Given the description of an element on the screen output the (x, y) to click on. 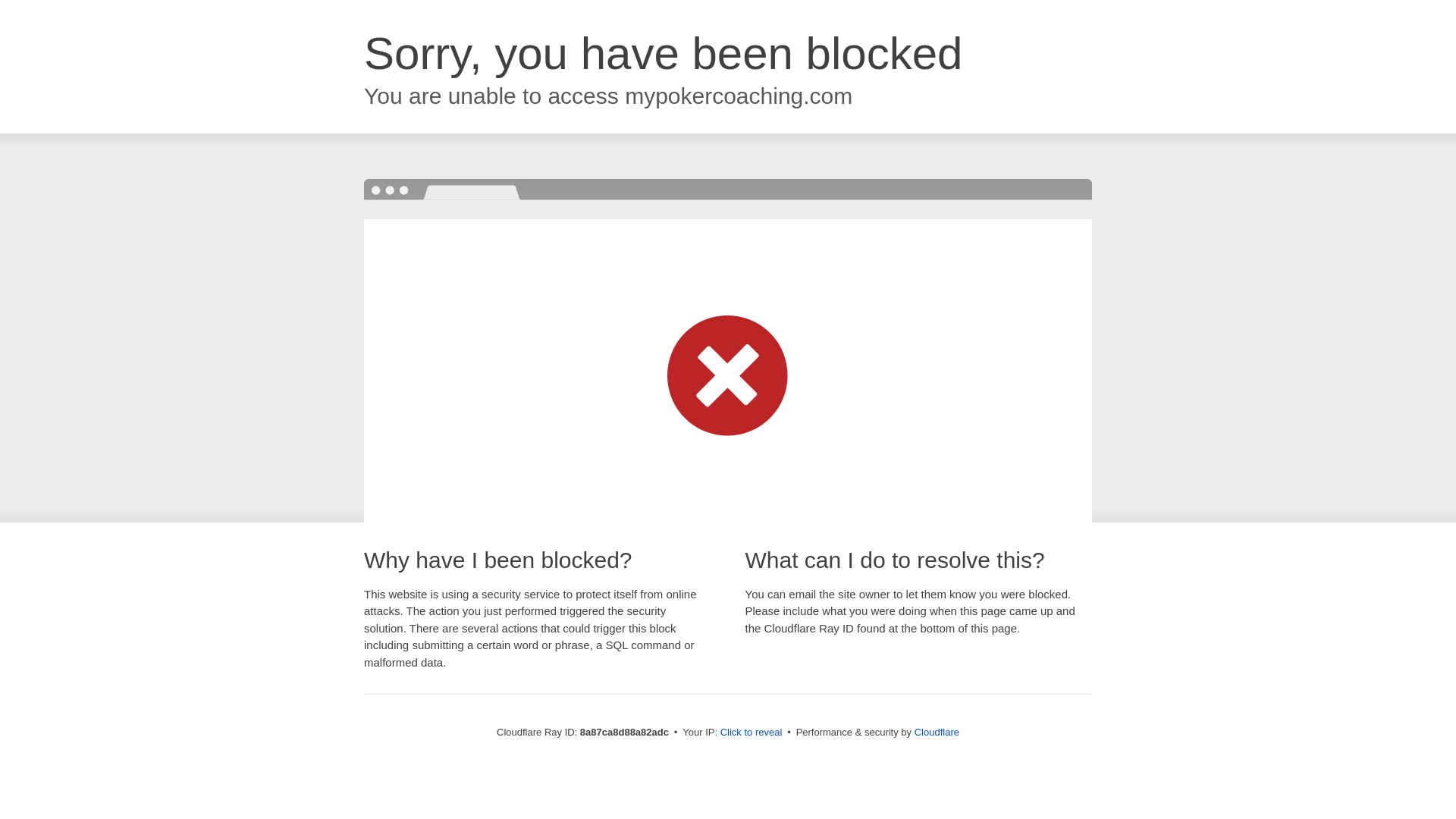
Click to reveal (751, 732)
Cloudflare (936, 731)
